Given the description of an element on the screen output the (x, y) to click on. 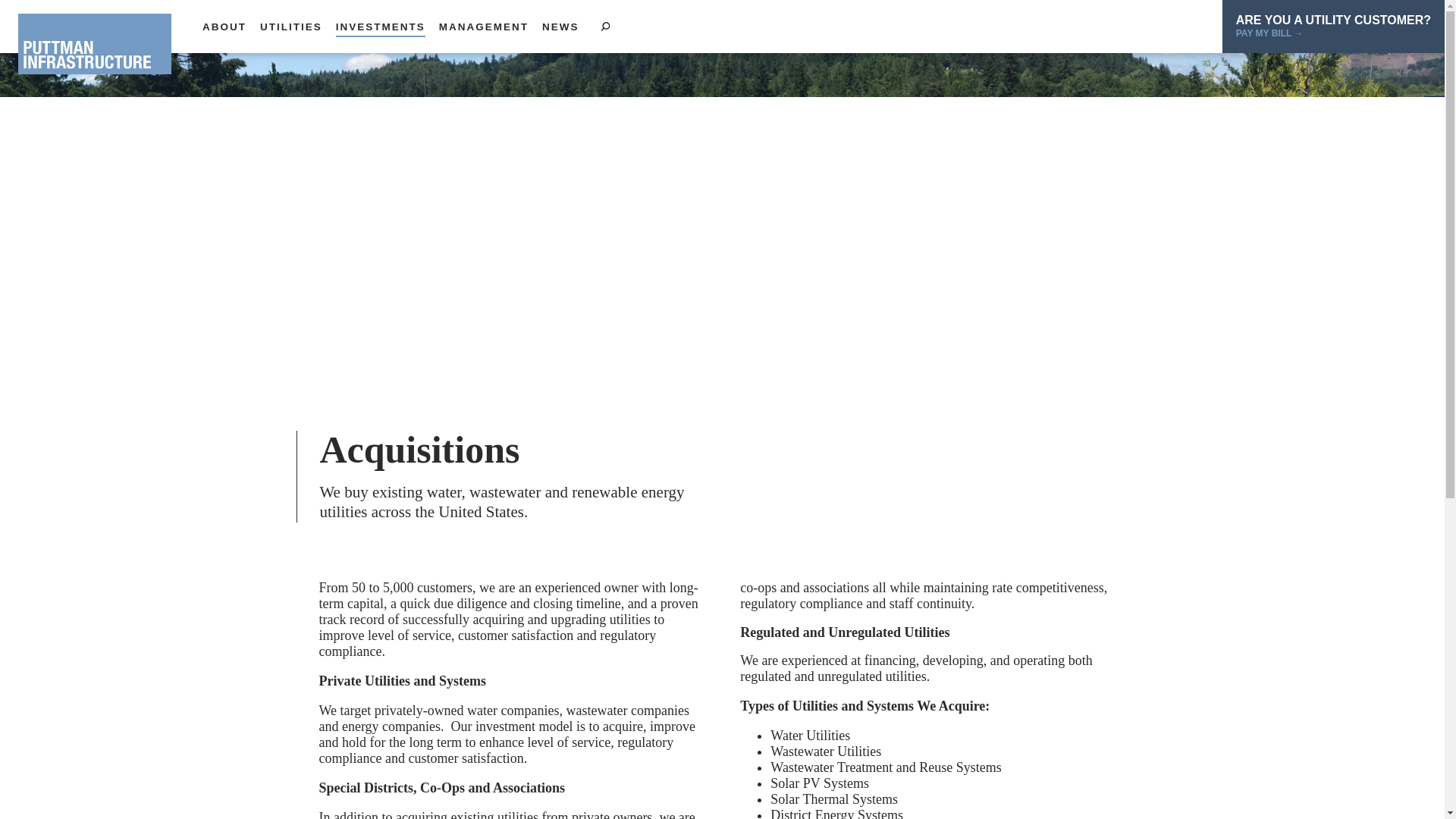
ABOUT (224, 26)
MANAGEMENT (483, 26)
UTILITIES (290, 26)
NEWS (560, 26)
INVESTMENTS (380, 26)
Puttman Infrastructure Portland, OR (94, 43)
